Given the description of an element on the screen output the (x, y) to click on. 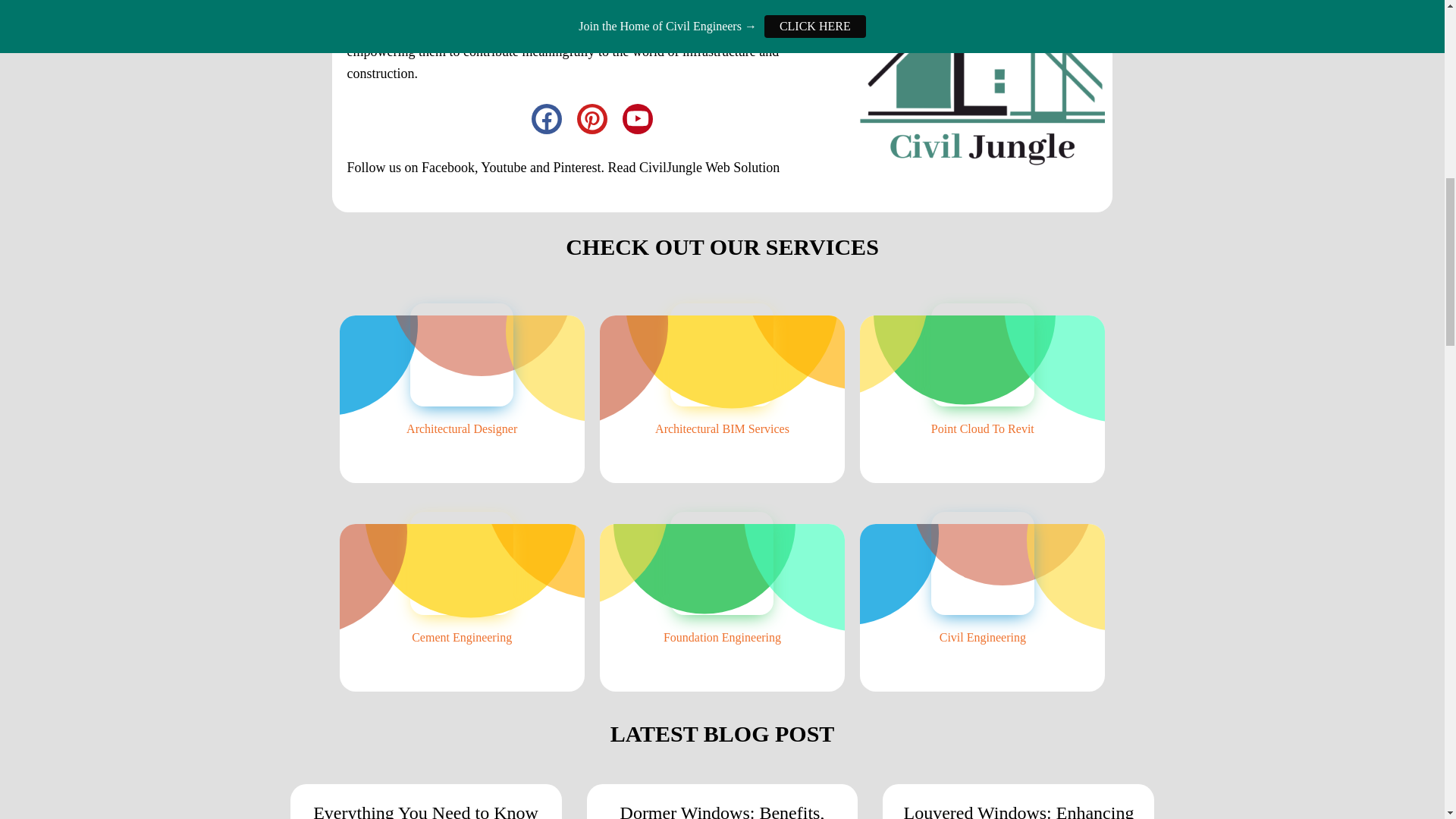
facebook (546, 118)
youtube (637, 118)
twitte (591, 118)
